Given the description of an element on the screen output the (x, y) to click on. 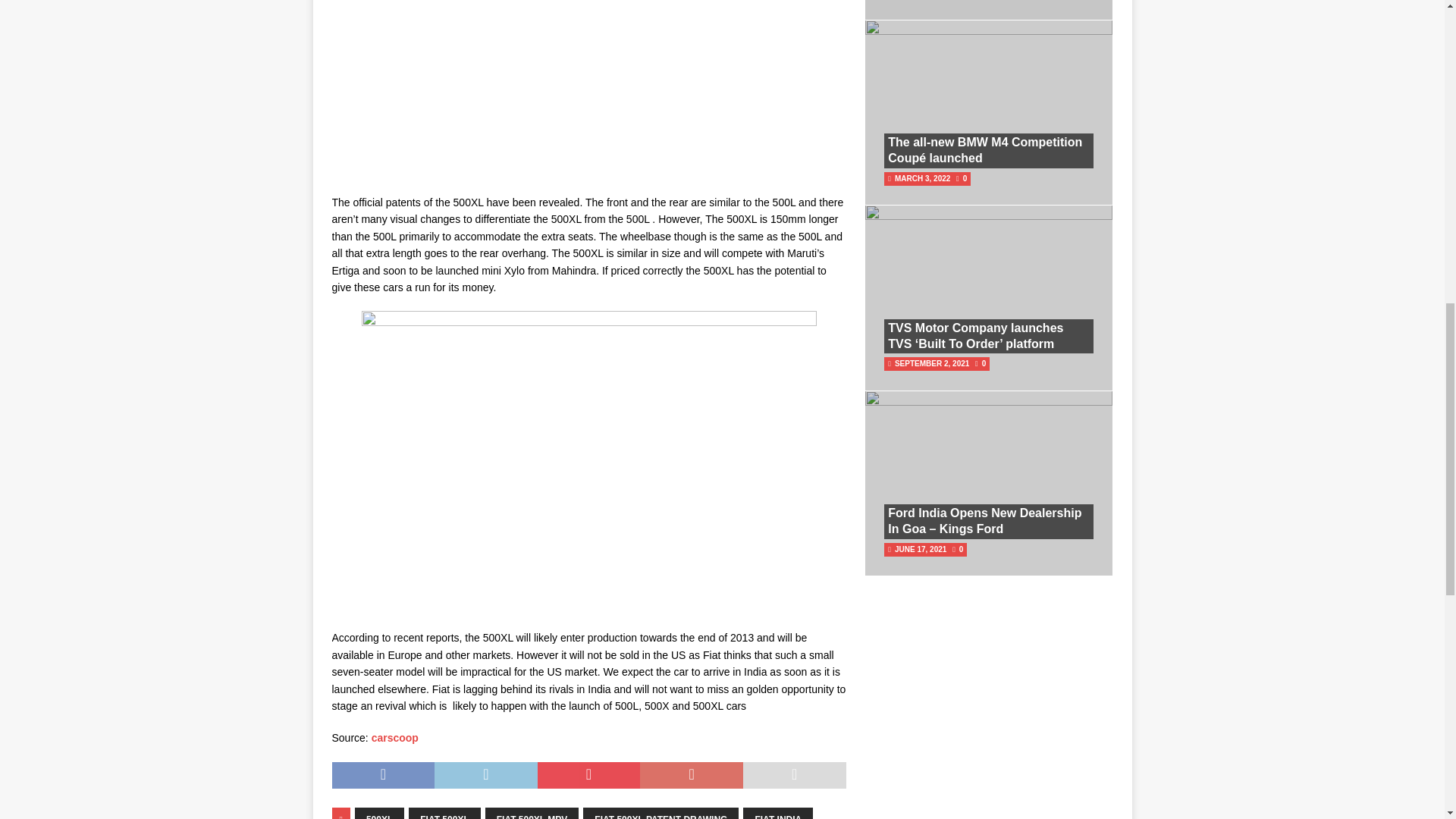
carscoop (395, 737)
